Given the description of an element on the screen output the (x, y) to click on. 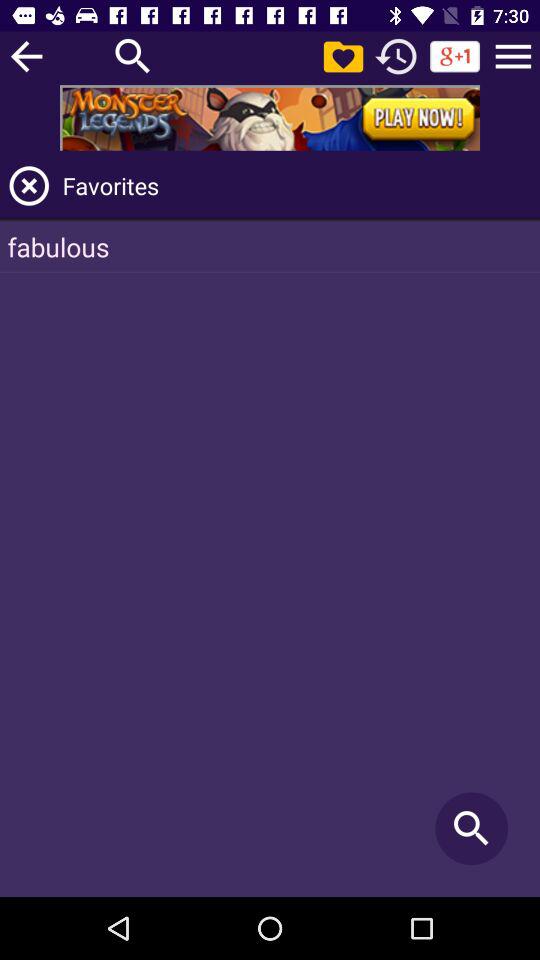
go back (26, 56)
